Given the description of an element on the screen output the (x, y) to click on. 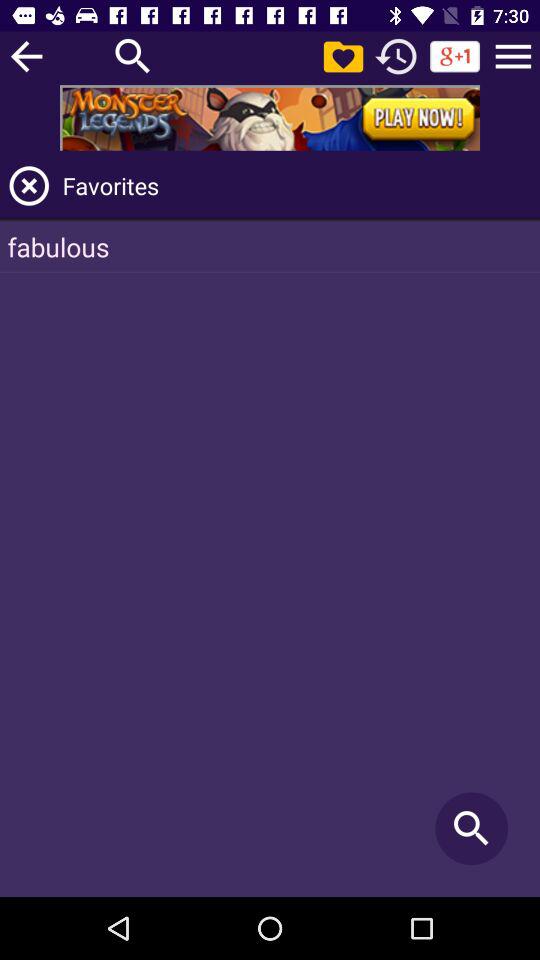
go back (26, 56)
